Given the description of an element on the screen output the (x, y) to click on. 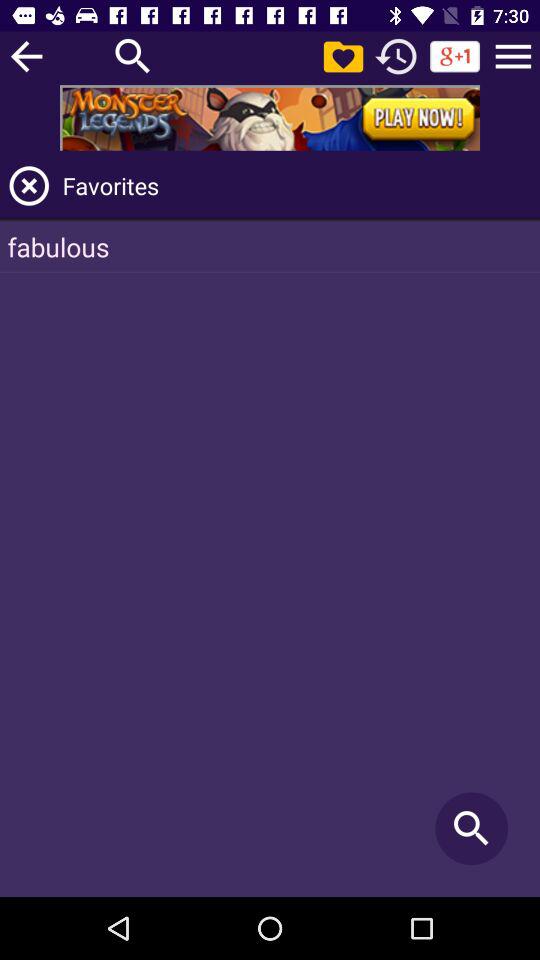
go back (26, 56)
